Given the description of an element on the screen output the (x, y) to click on. 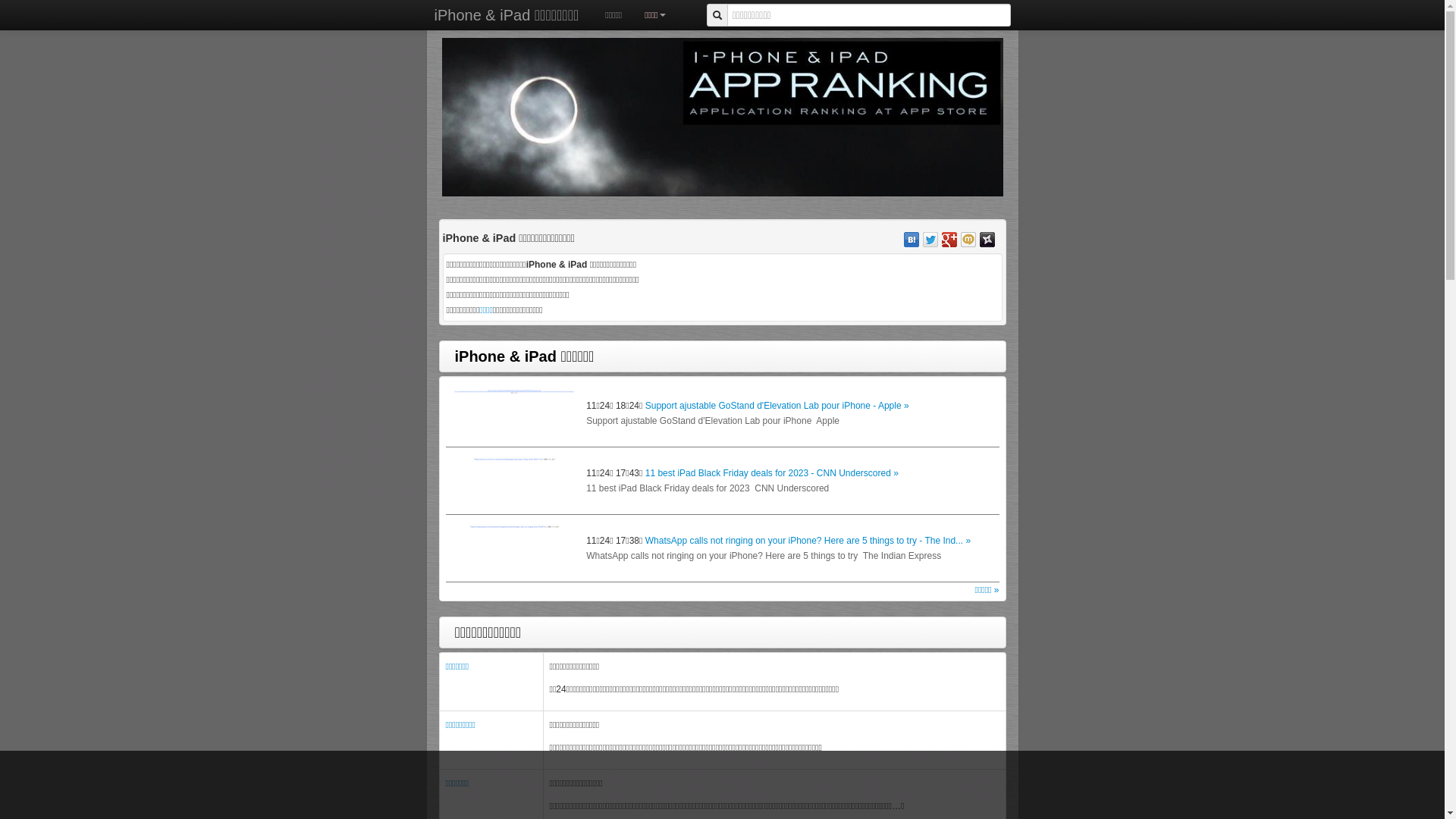
3rd party ad content Element type: hover (357, 272)
